Given the description of an element on the screen output the (x, y) to click on. 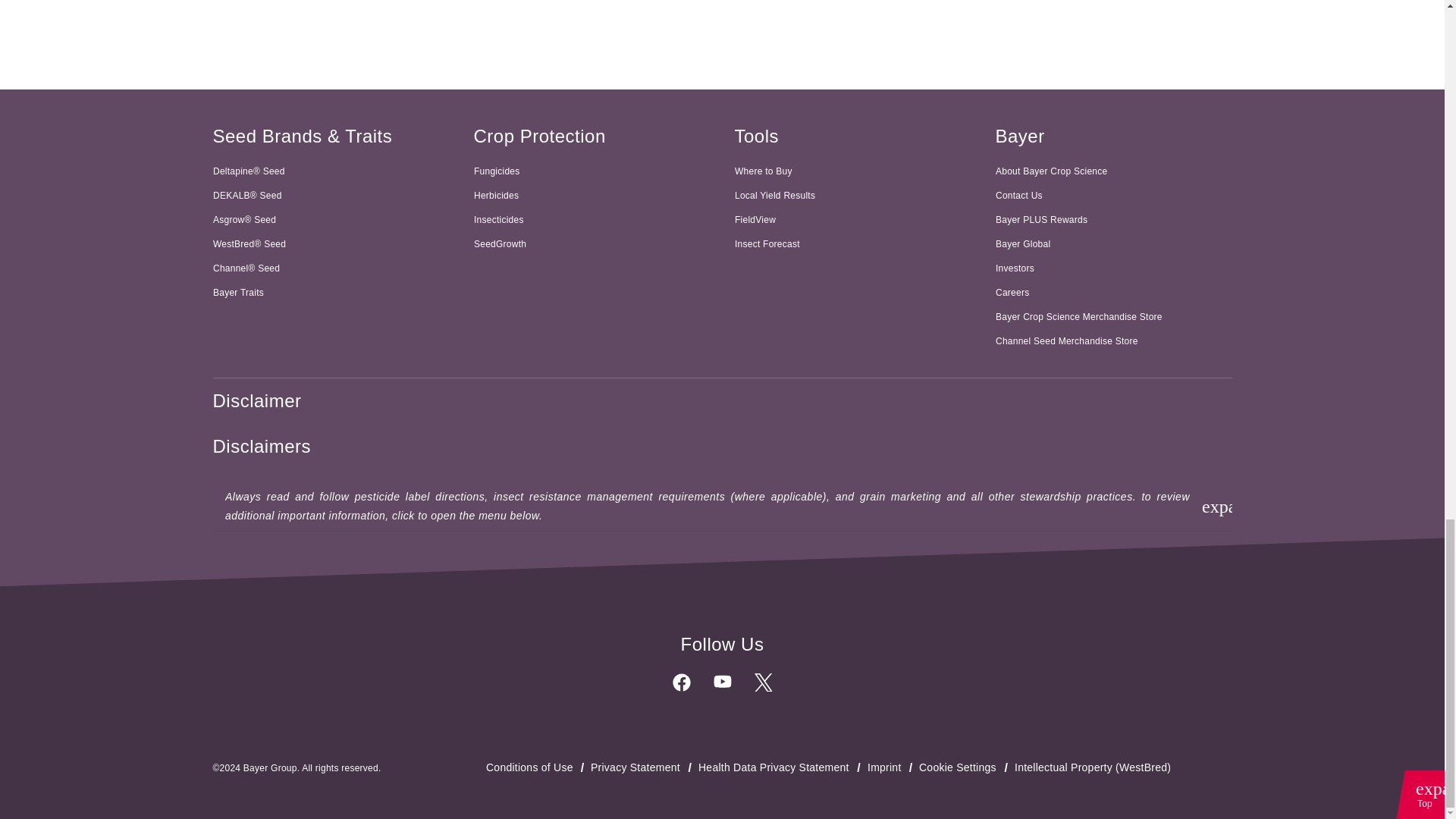
Bayer PLUS Rewards (1112, 219)
FieldView (852, 219)
SeedGrowth (591, 243)
Bayer Crop Science Merchandise Store (1112, 316)
Investors (1112, 268)
Fungicides (591, 170)
Imprint (1067, 17)
Bayer Traits (893, 767)
About Bayer Crop Science (330, 292)
Bayer Global (1112, 170)
Local Yield Results (1112, 243)
Contact Us (852, 195)
Conditions of Use (1112, 195)
Privacy Statement (537, 767)
